Given the description of an element on the screen output the (x, y) to click on. 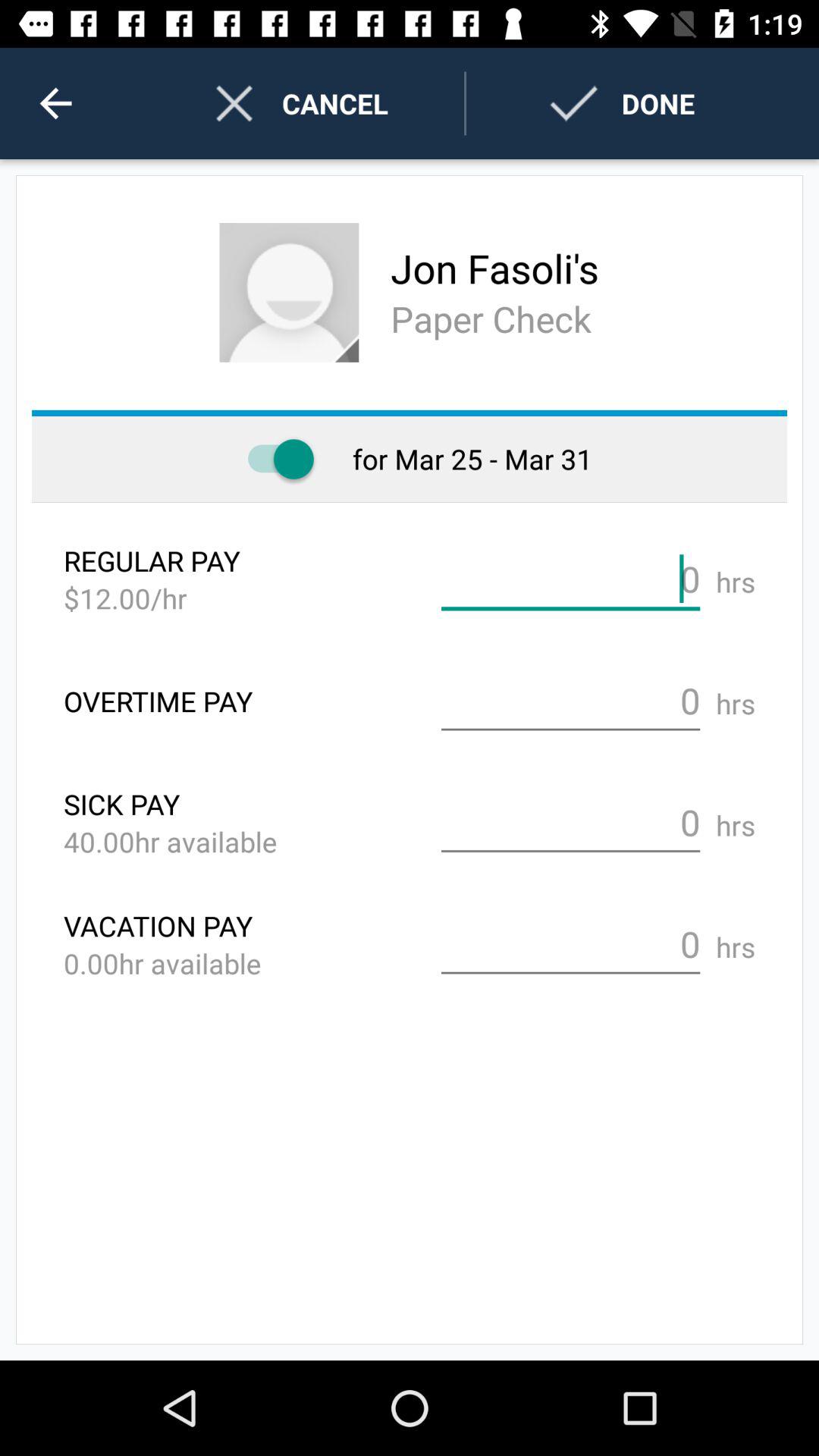
opens entry box for sick pay hours (570, 822)
